Given the description of an element on the screen output the (x, y) to click on. 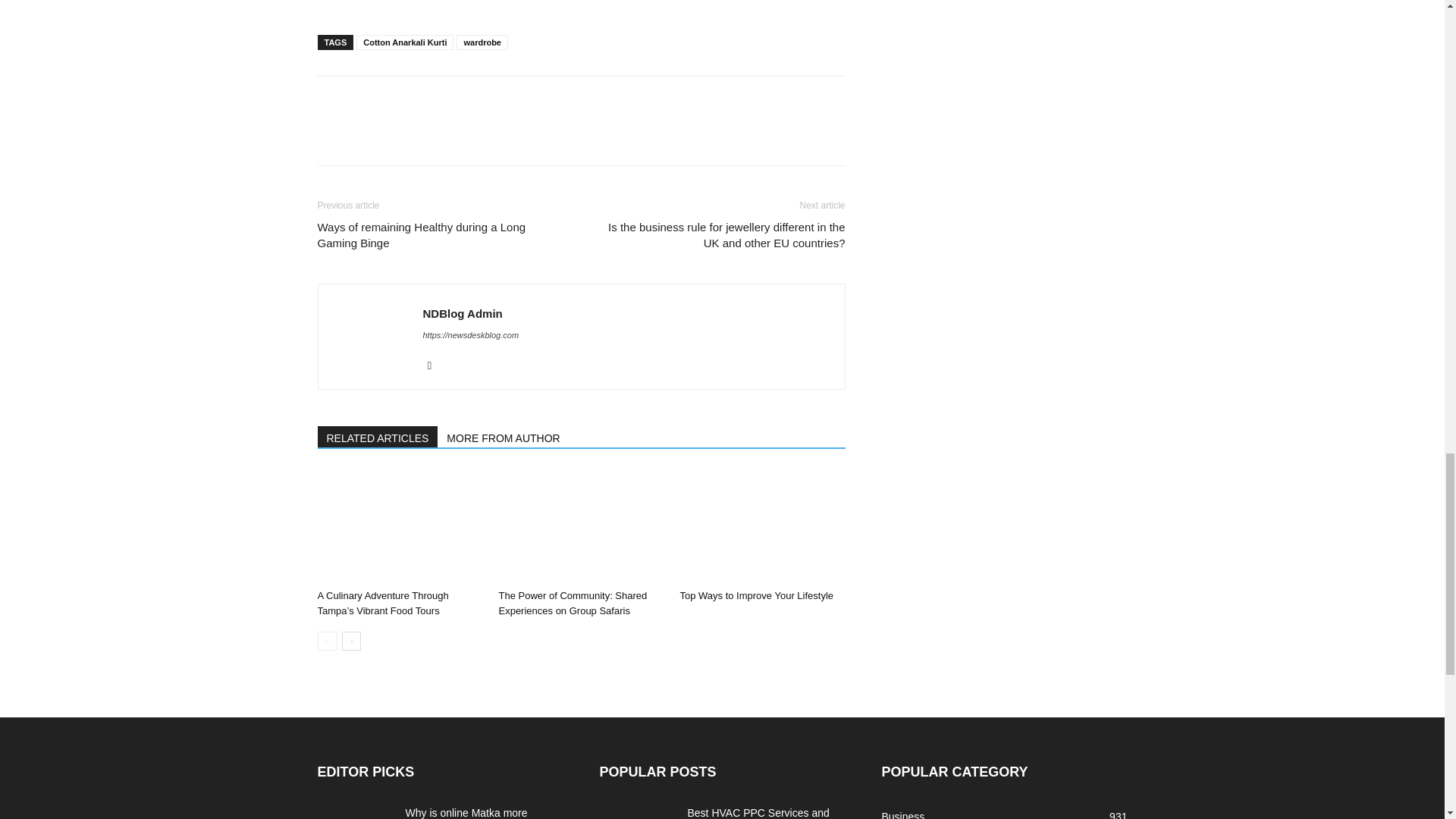
bottomFacebookLike (430, 100)
